Given the description of an element on the screen output the (x, y) to click on. 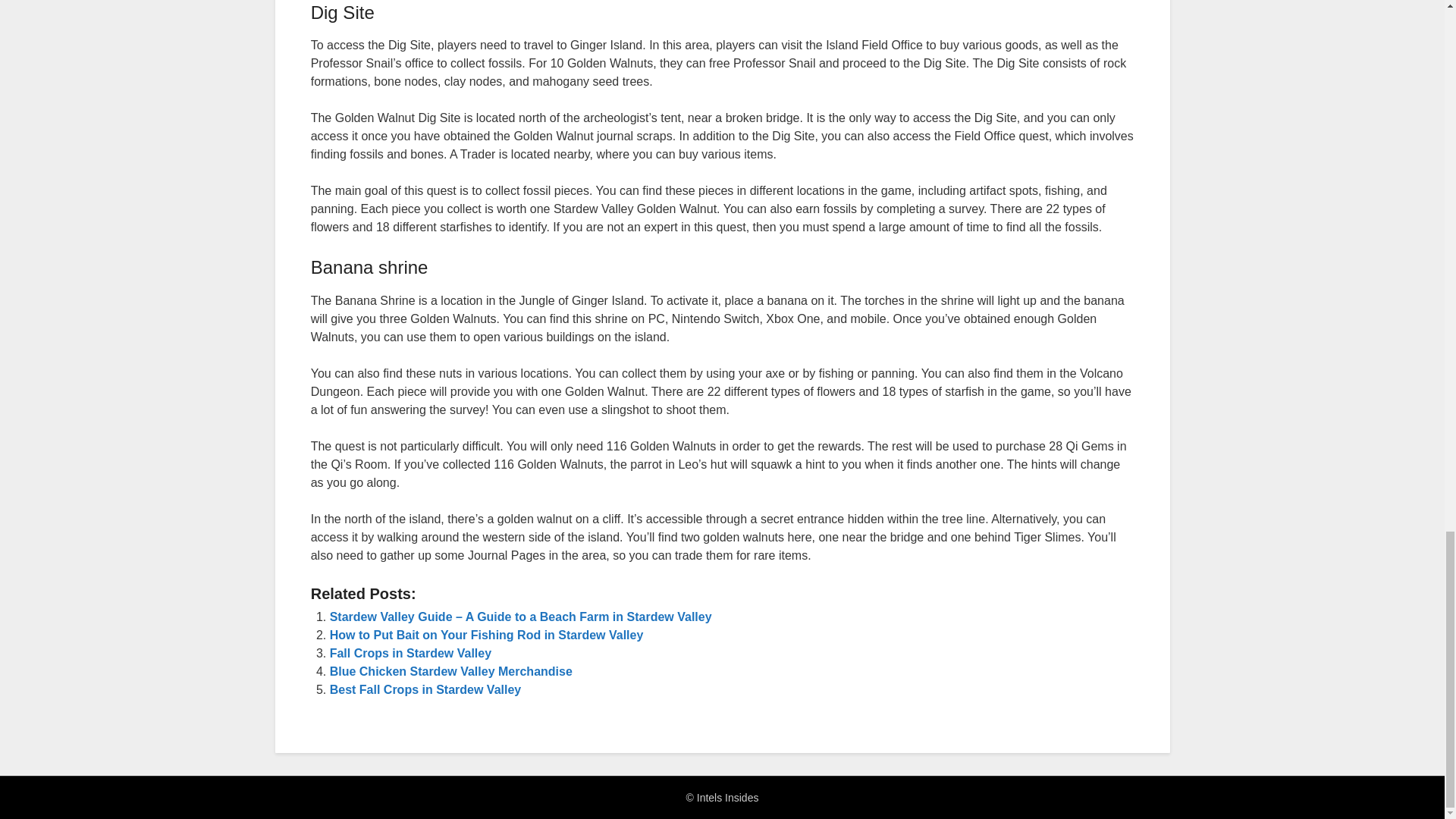
How to Put Bait on Your Fishing Rod in Stardew Valley (486, 634)
Blue Chicken Stardew Valley Merchandise (451, 671)
Best Fall Crops in Stardew Valley (425, 689)
Fall Crops in Stardew Valley (411, 653)
How to Put Bait on Your Fishing Rod in Stardew Valley (486, 634)
Best Fall Crops in Stardew Valley (425, 689)
Fall Crops in Stardew Valley (411, 653)
Blue Chicken Stardew Valley Merchandise (451, 671)
